Given the description of an element on the screen output the (x, y) to click on. 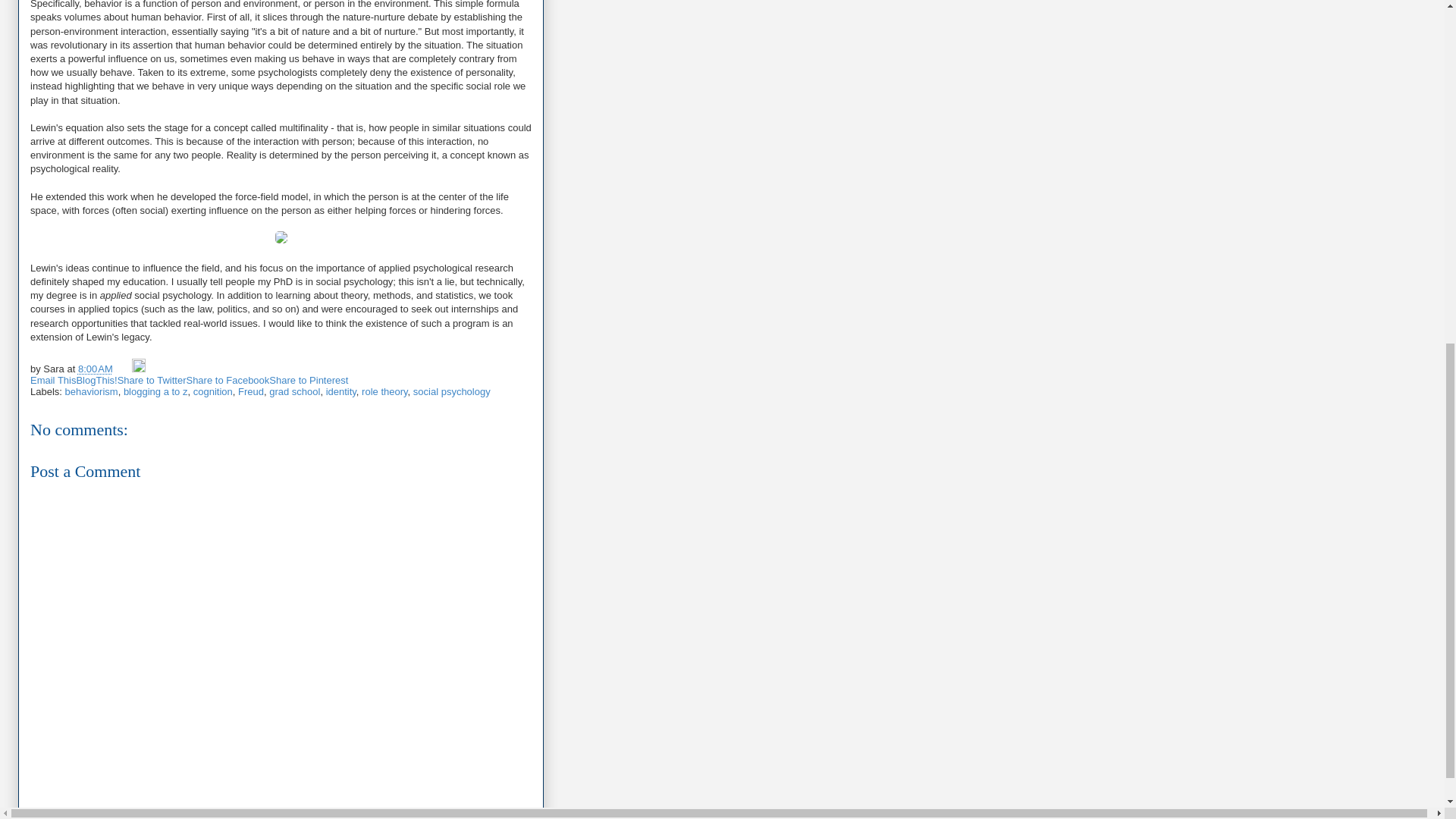
Edit Post (138, 368)
Share to Twitter (151, 379)
identity (341, 391)
Email This (52, 379)
Share to Facebook (227, 379)
Email Post (123, 368)
Share to Pinterest (308, 379)
behaviorism (91, 391)
Share to Twitter (151, 379)
